Given the description of an element on the screen output the (x, y) to click on. 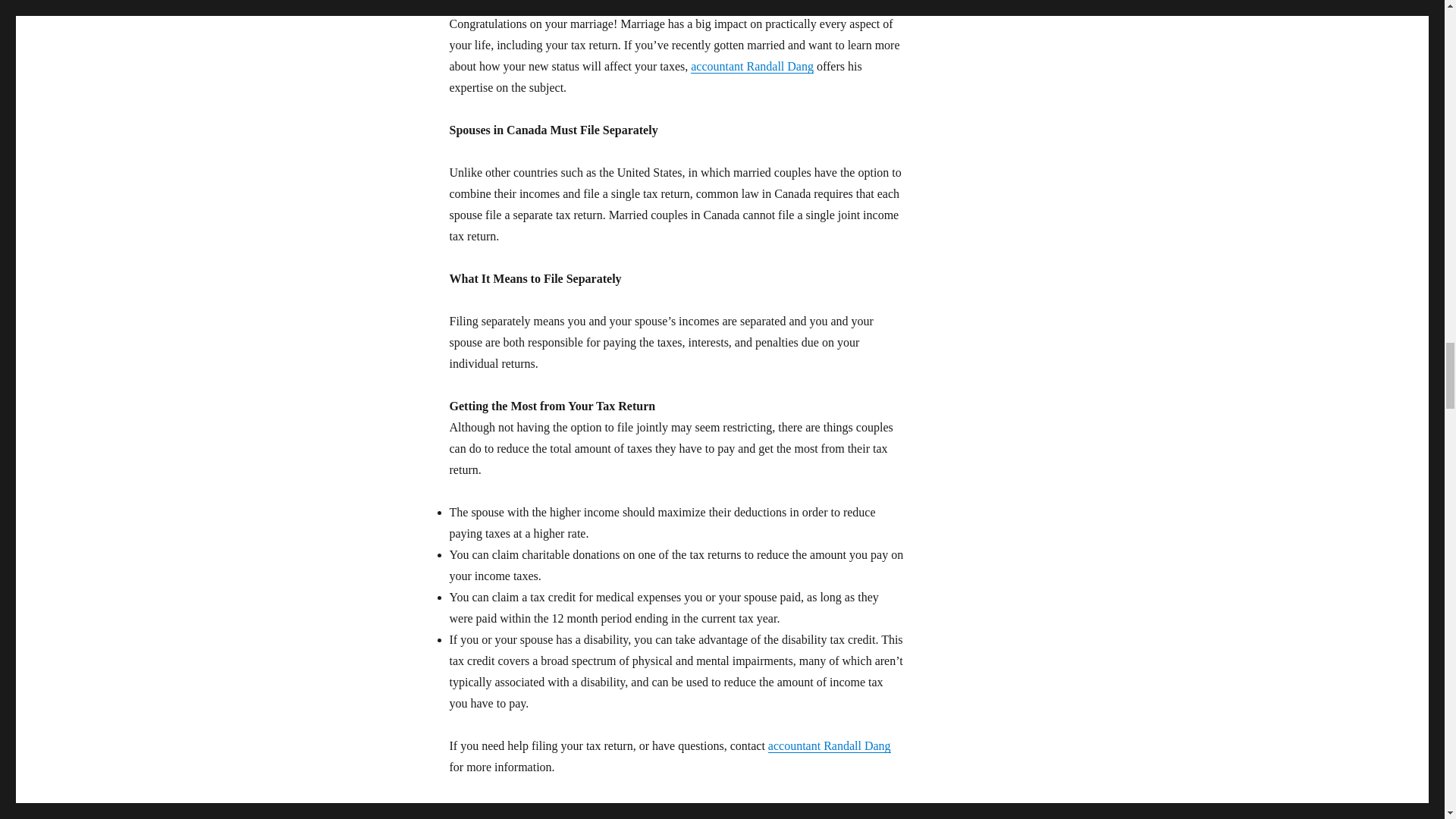
accountant Randall Dang (751, 65)
accountant Randall Dang (829, 745)
